Given the description of an element on the screen output the (x, y) to click on. 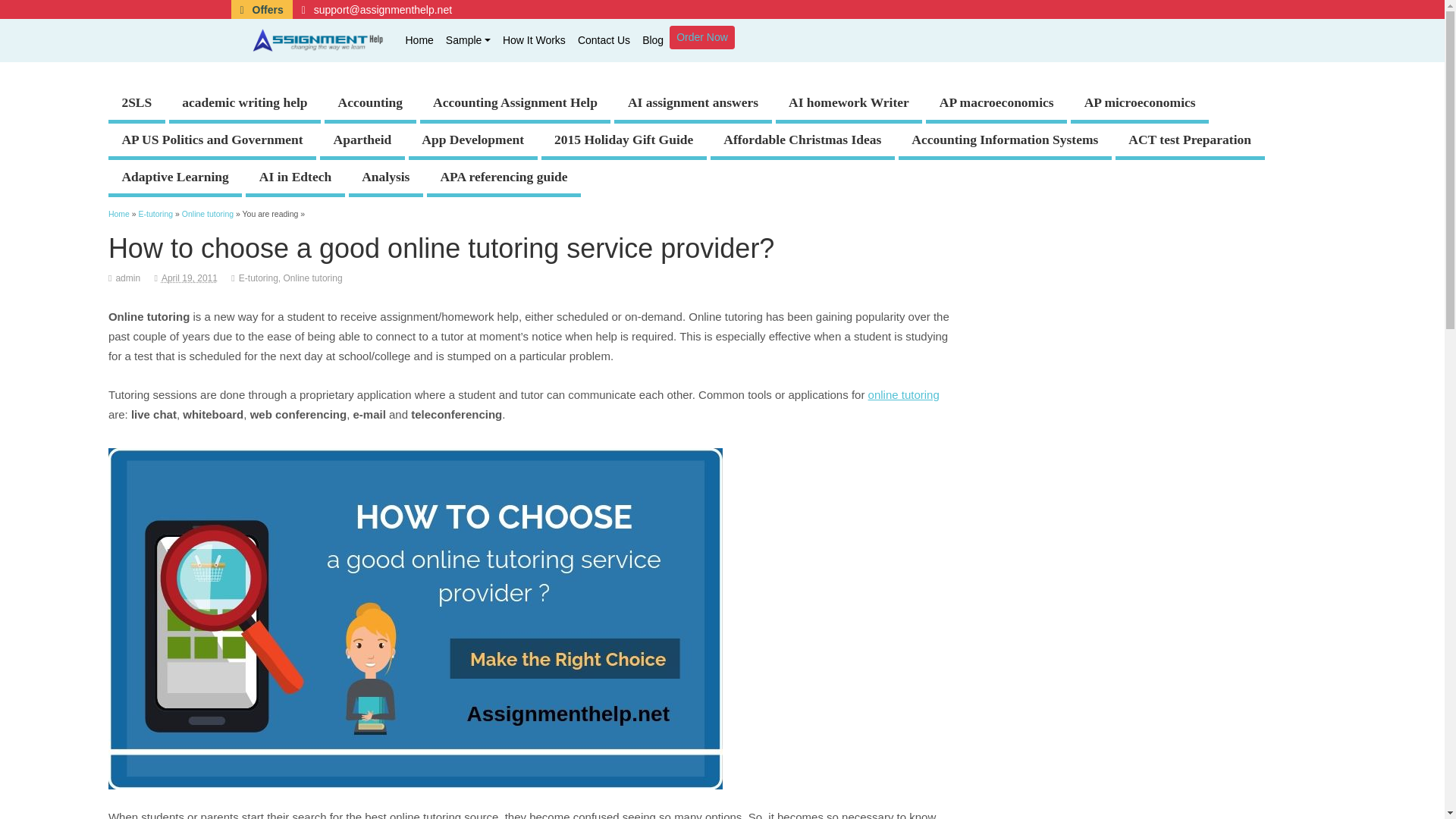
2SLS (136, 104)
Accounting (370, 104)
Order Now (702, 37)
Posts by admin (127, 277)
Home (418, 39)
academic writing help (244, 104)
 Offers (261, 9)
Blog (652, 39)
2011-04-19T00:29:02-07:00 (188, 277)
How It Works (534, 39)
